Given the description of an element on the screen output the (x, y) to click on. 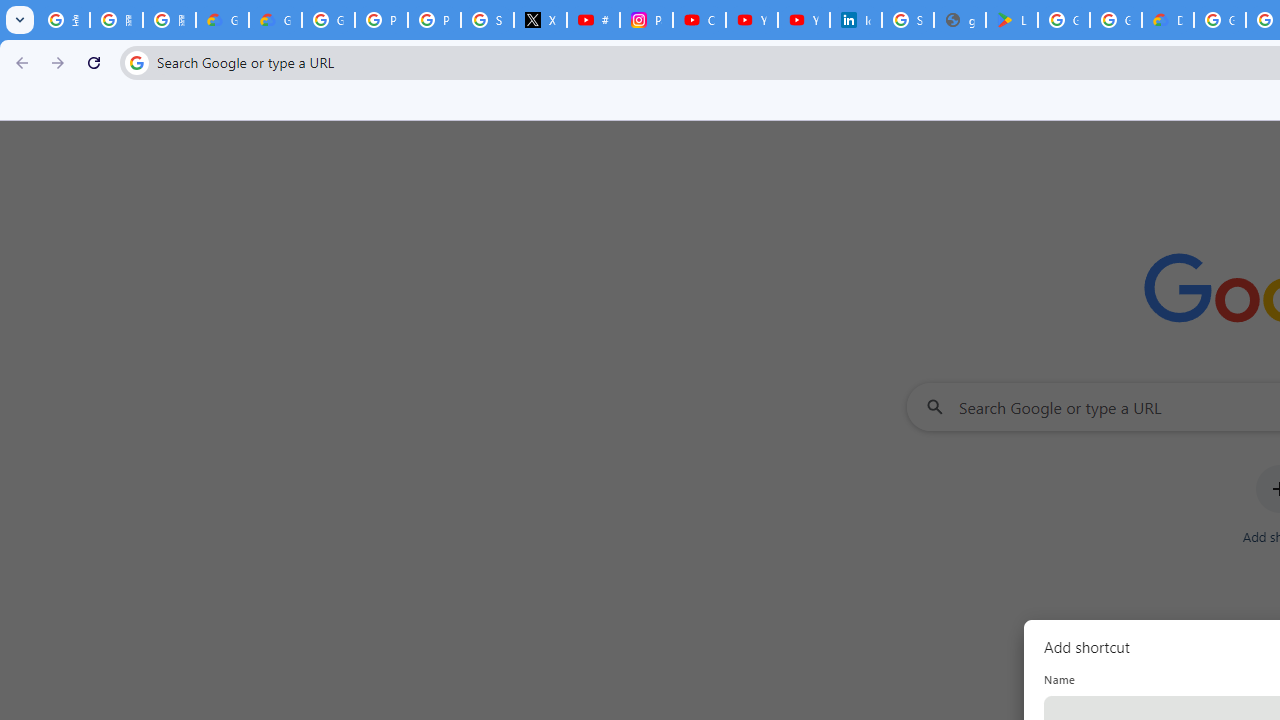
Last Shelter: Survival - Apps on Google Play (1011, 20)
Sign in - Google Accounts (907, 20)
Google Cloud Platform (1219, 20)
Google Workspace - Specific Terms (1115, 20)
Search icon (136, 62)
X (540, 20)
google_privacy_policy_en.pdf (959, 20)
